Given the description of an element on the screen output the (x, y) to click on. 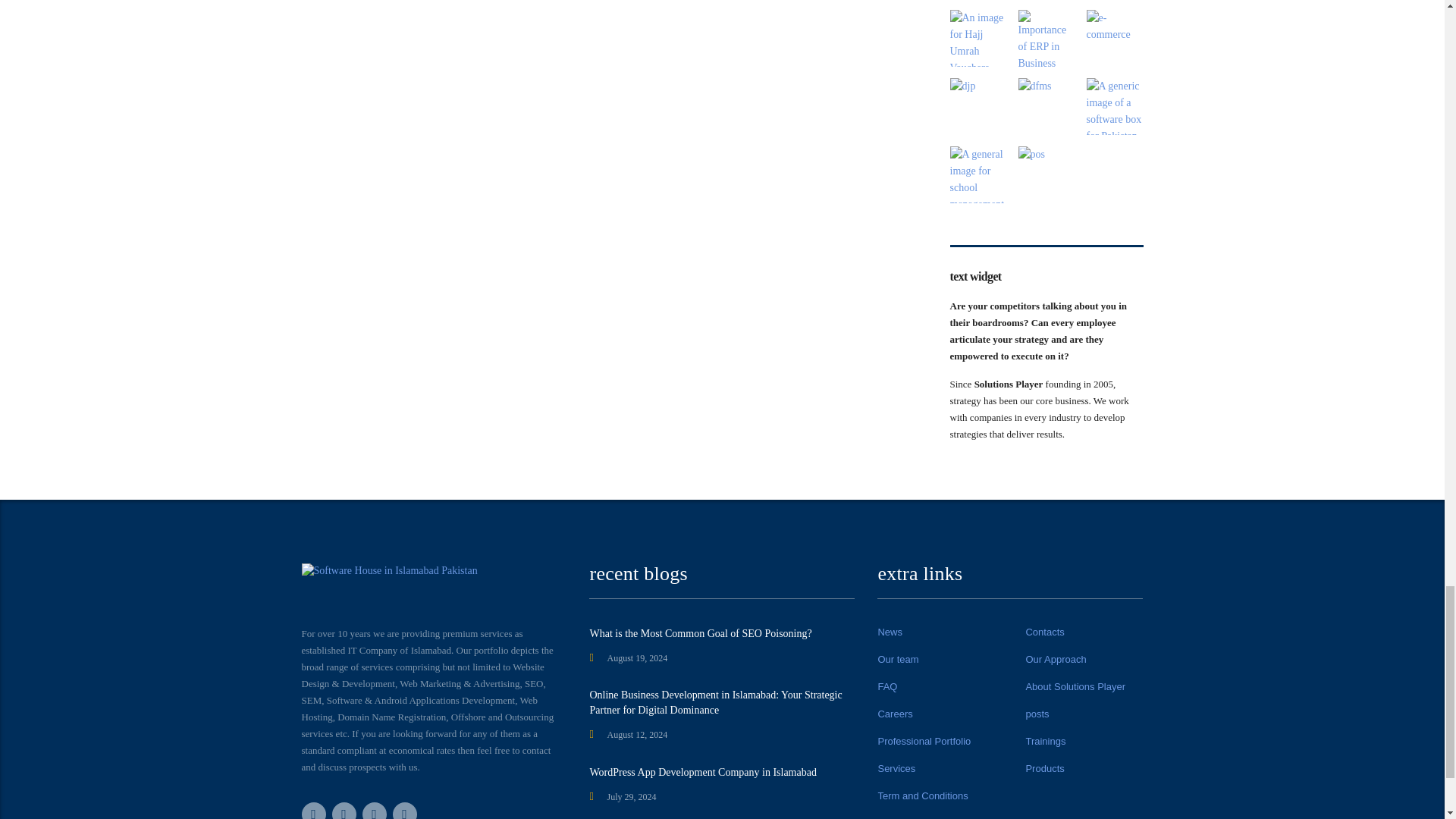
Hajj Umrah Vouchers Management System (977, 37)
djp (977, 106)
e-commerce (1114, 37)
school management software (977, 174)
dfms (1045, 106)
Pakistan taxi app (1114, 106)
Importance of ERP in Business (1045, 37)
pos (1045, 174)
